Given the description of an element on the screen output the (x, y) to click on. 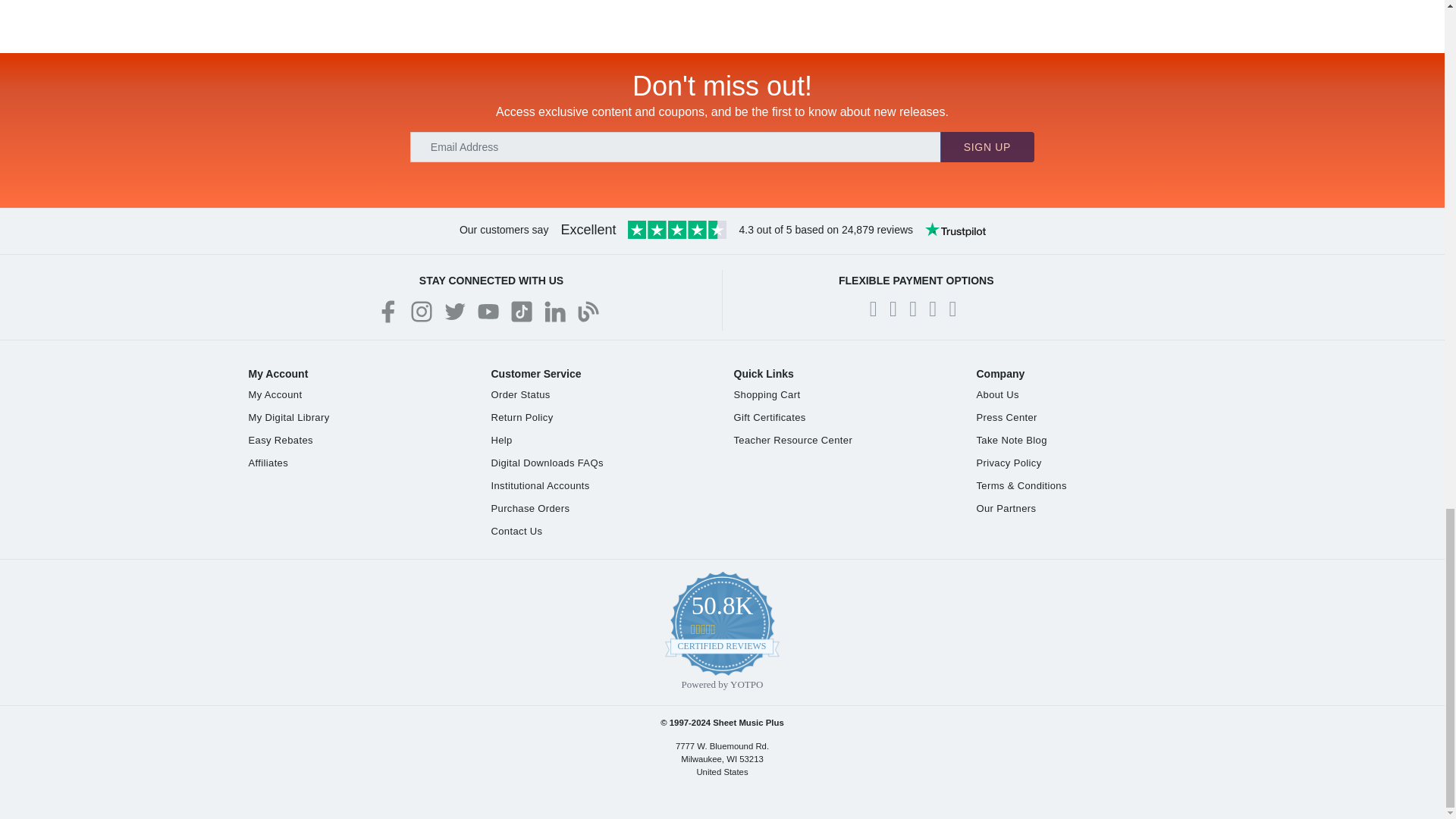
Go to Digital Downloads FAQs (548, 462)
Go to Help (502, 439)
Go to Order Status (521, 394)
Go to Purchase Orders (531, 508)
Go to School and Church Accounts (540, 485)
Go to Easy Rebates (280, 439)
Go to Affiliates (268, 462)
Customer reviews powered by Trustpilot (722, 230)
Go to My Digital Library (289, 417)
Go to My Account (275, 394)
Go to Return Policy (522, 417)
